Given the description of an element on the screen output the (x, y) to click on. 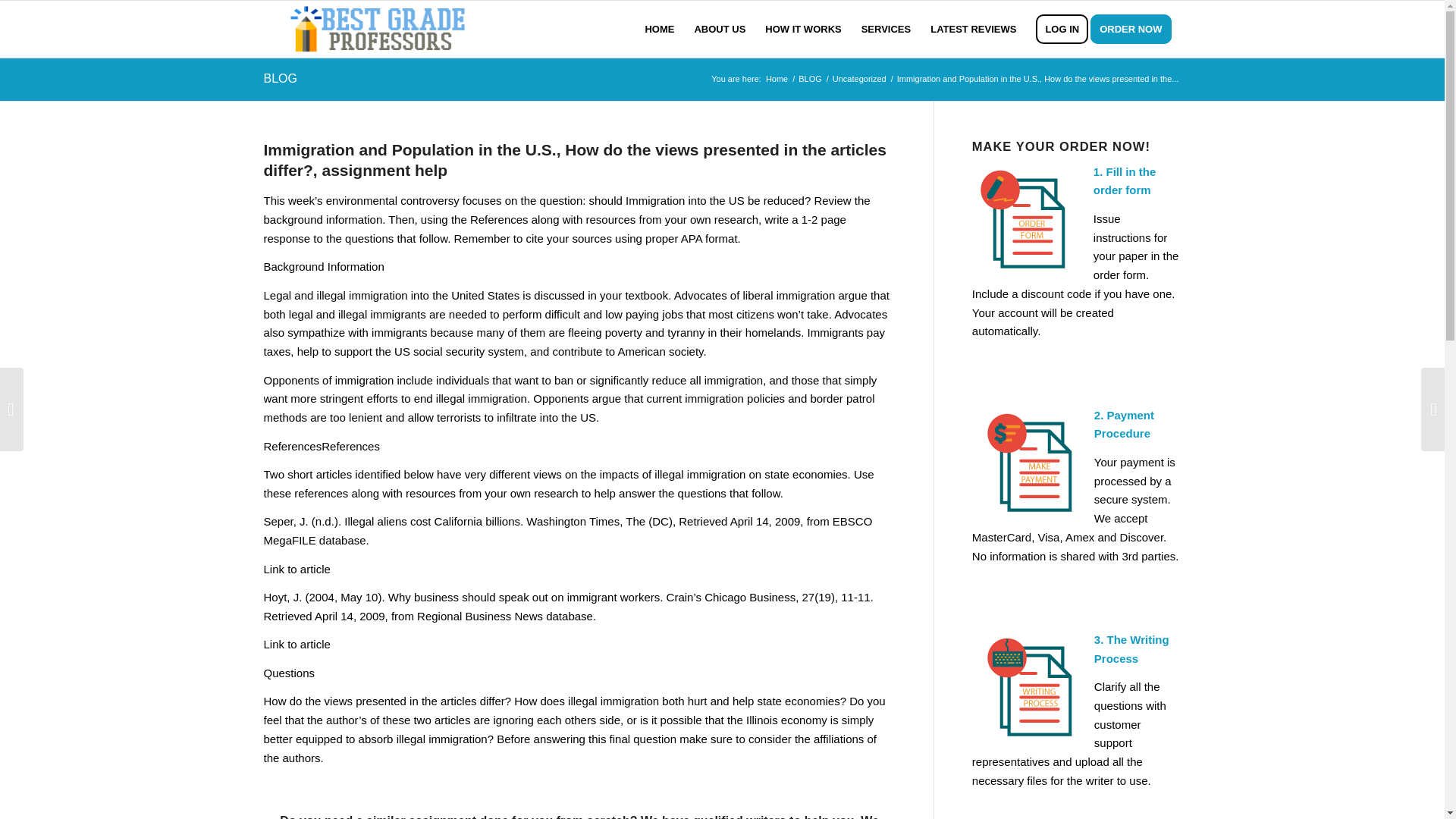
BLOG (280, 78)
SERVICES (886, 28)
ABOUT US (719, 28)
BLOG (810, 79)
ORDER NOW (1135, 28)
bestgradeprofessors.com (776, 79)
Home (776, 79)
Uncategorized (858, 79)
BLOG (810, 79)
